Given the description of an element on the screen output the (x, y) to click on. 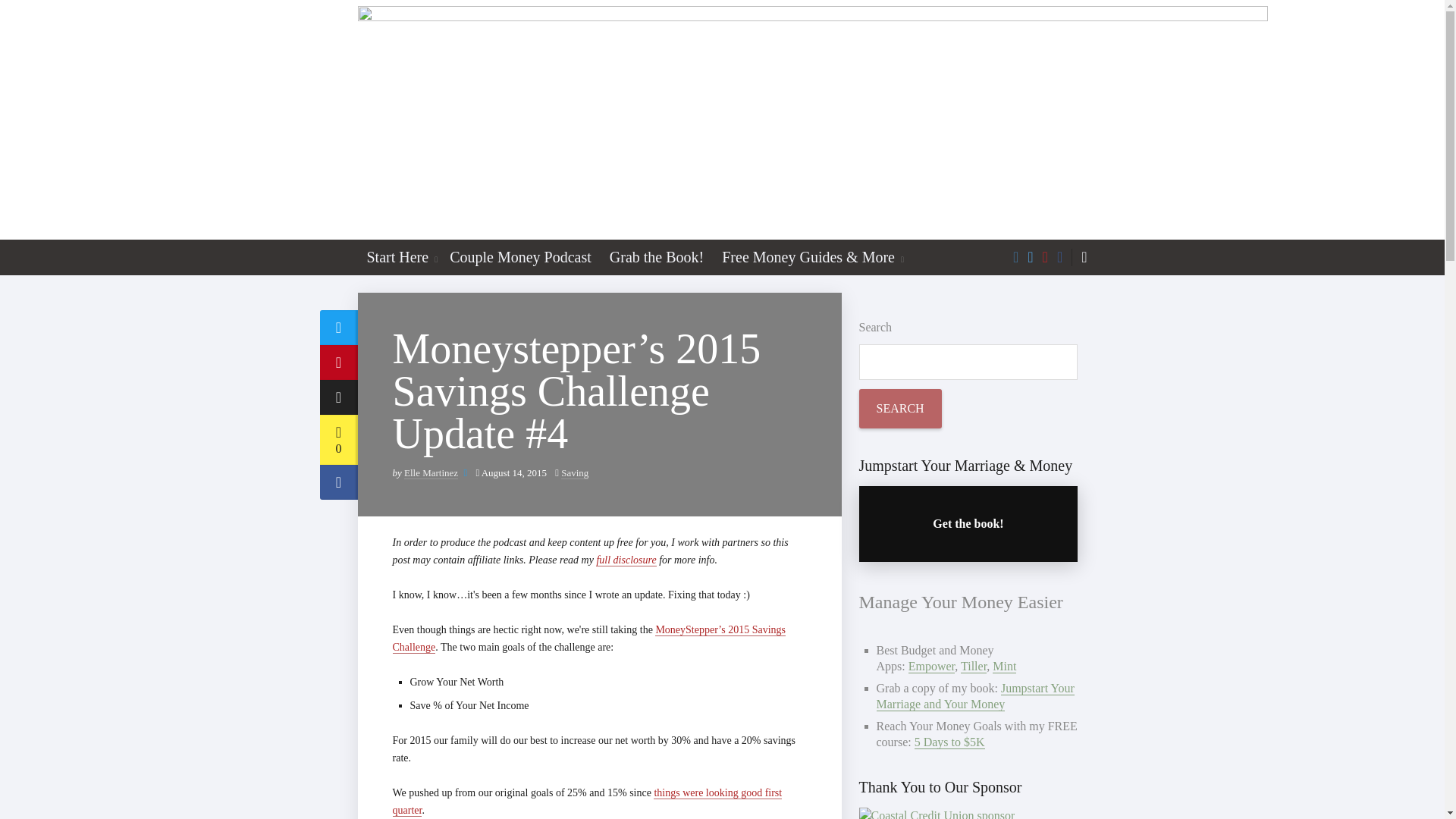
Saving (574, 472)
full disclosure (625, 560)
SEARCH (899, 408)
Couple Money Podcast (520, 257)
Elle Martinez (431, 472)
things were looking good first quarter (588, 801)
Start Here (395, 257)
Grab the Book! (656, 257)
